Given the description of an element on the screen output the (x, y) to click on. 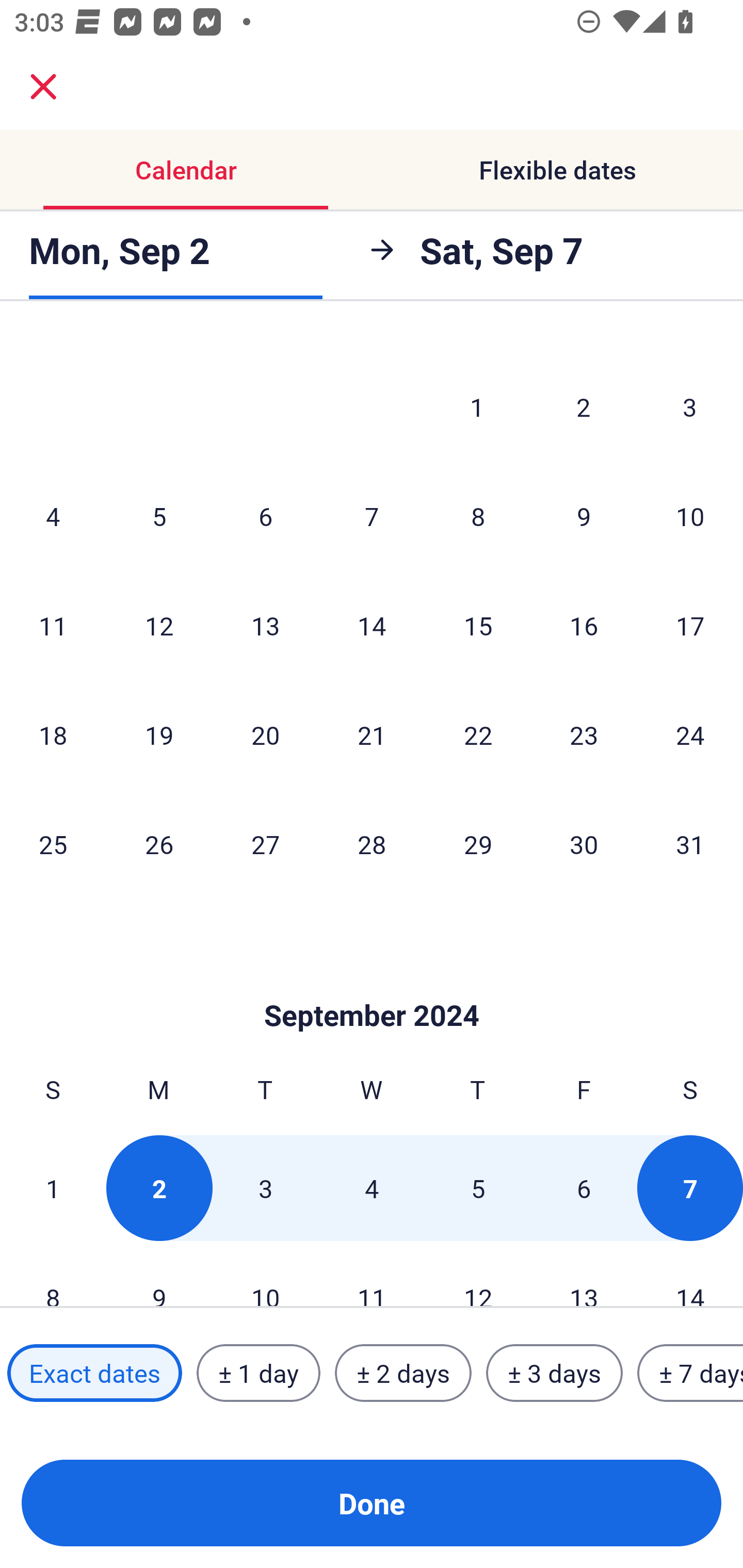
close. (43, 86)
Flexible dates (557, 170)
1 Thursday, August 1, 2024 (477, 406)
2 Friday, August 2, 2024 (583, 406)
3 Saturday, August 3, 2024 (689, 406)
4 Sunday, August 4, 2024 (53, 515)
5 Monday, August 5, 2024 (159, 515)
6 Tuesday, August 6, 2024 (265, 515)
7 Wednesday, August 7, 2024 (371, 515)
8 Thursday, August 8, 2024 (477, 515)
9 Friday, August 9, 2024 (584, 515)
10 Saturday, August 10, 2024 (690, 515)
11 Sunday, August 11, 2024 (53, 625)
12 Monday, August 12, 2024 (159, 625)
13 Tuesday, August 13, 2024 (265, 625)
14 Wednesday, August 14, 2024 (371, 625)
15 Thursday, August 15, 2024 (477, 625)
16 Friday, August 16, 2024 (584, 625)
17 Saturday, August 17, 2024 (690, 625)
18 Sunday, August 18, 2024 (53, 734)
19 Monday, August 19, 2024 (159, 734)
20 Tuesday, August 20, 2024 (265, 734)
21 Wednesday, August 21, 2024 (371, 734)
22 Thursday, August 22, 2024 (477, 734)
23 Friday, August 23, 2024 (584, 734)
24 Saturday, August 24, 2024 (690, 734)
25 Sunday, August 25, 2024 (53, 843)
26 Monday, August 26, 2024 (159, 843)
27 Tuesday, August 27, 2024 (265, 843)
28 Wednesday, August 28, 2024 (371, 843)
29 Thursday, August 29, 2024 (477, 843)
30 Friday, August 30, 2024 (584, 843)
31 Saturday, August 31, 2024 (690, 843)
Skip to Done (371, 984)
1 Sunday, September 1, 2024 (53, 1187)
8 Sunday, September 8, 2024 (53, 1275)
9 Monday, September 9, 2024 (159, 1275)
10 Tuesday, September 10, 2024 (265, 1275)
11 Wednesday, September 11, 2024 (371, 1275)
12 Thursday, September 12, 2024 (477, 1275)
13 Friday, September 13, 2024 (584, 1275)
14 Saturday, September 14, 2024 (690, 1275)
Exact dates (94, 1372)
± 1 day (258, 1372)
± 2 days (403, 1372)
± 3 days (553, 1372)
± 7 days (690, 1372)
Done (371, 1502)
